Given the description of an element on the screen output the (x, y) to click on. 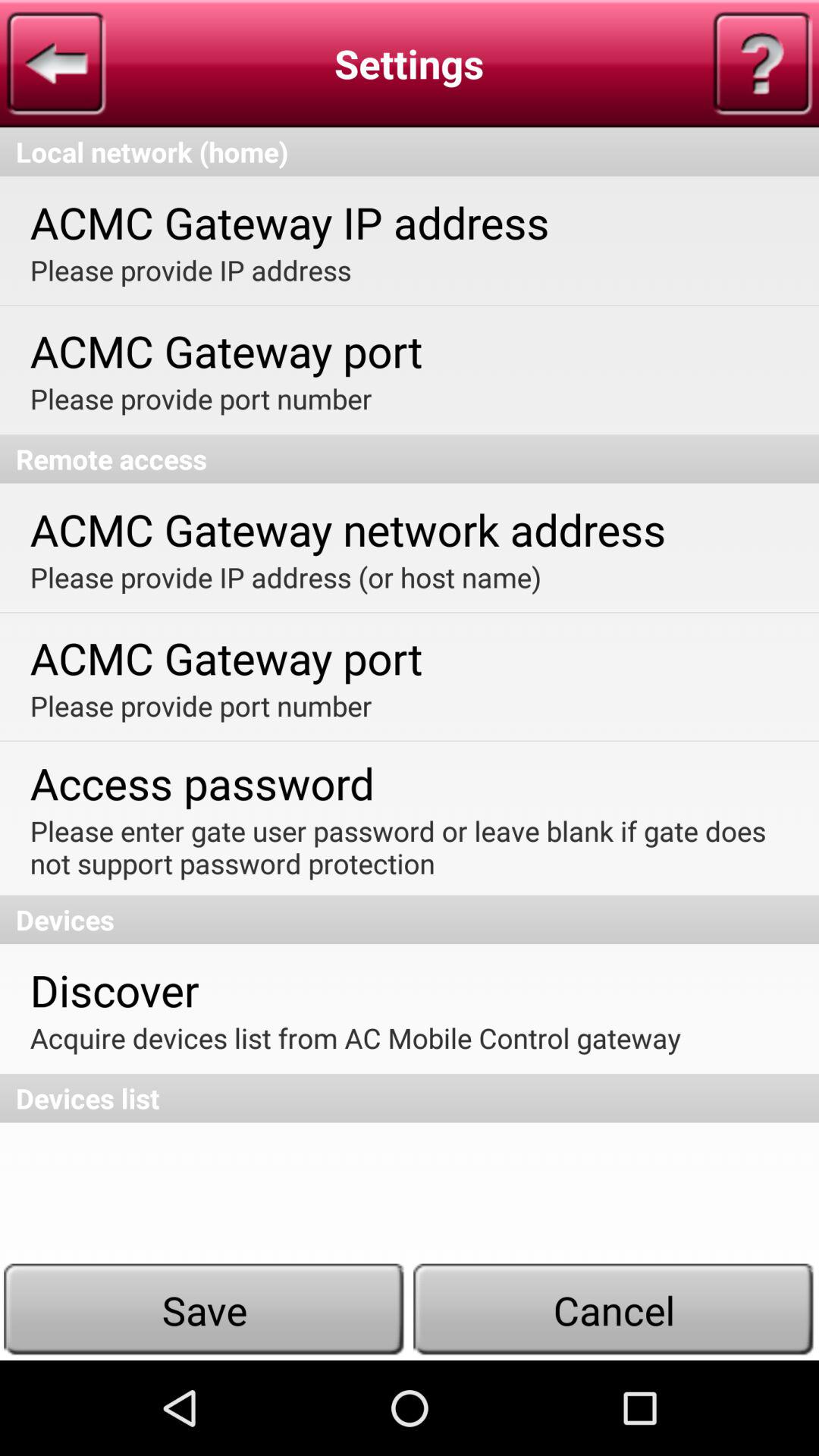
turn off item at the bottom right corner (614, 1309)
